Given the description of an element on the screen output the (x, y) to click on. 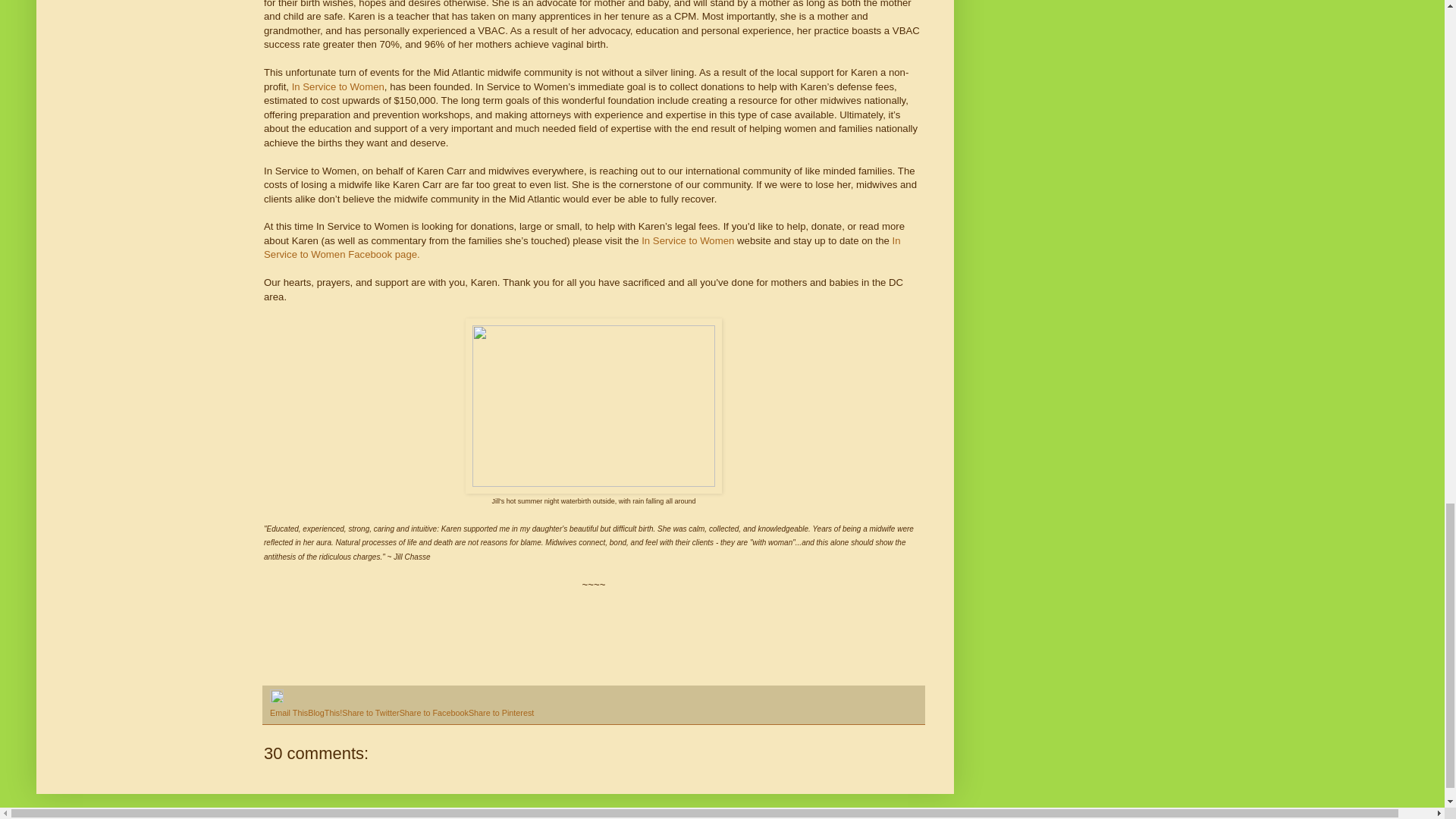
Share to Facebook (433, 712)
In Service to Women (687, 240)
Share to Twitter (370, 712)
Share to Pinterest (501, 712)
BlogThis! (324, 712)
Edit Post (276, 699)
Share to Facebook (433, 712)
In Service to Women (338, 86)
In Service to Women Facebook page. (582, 247)
Email This (288, 712)
